Given the description of an element on the screen output the (x, y) to click on. 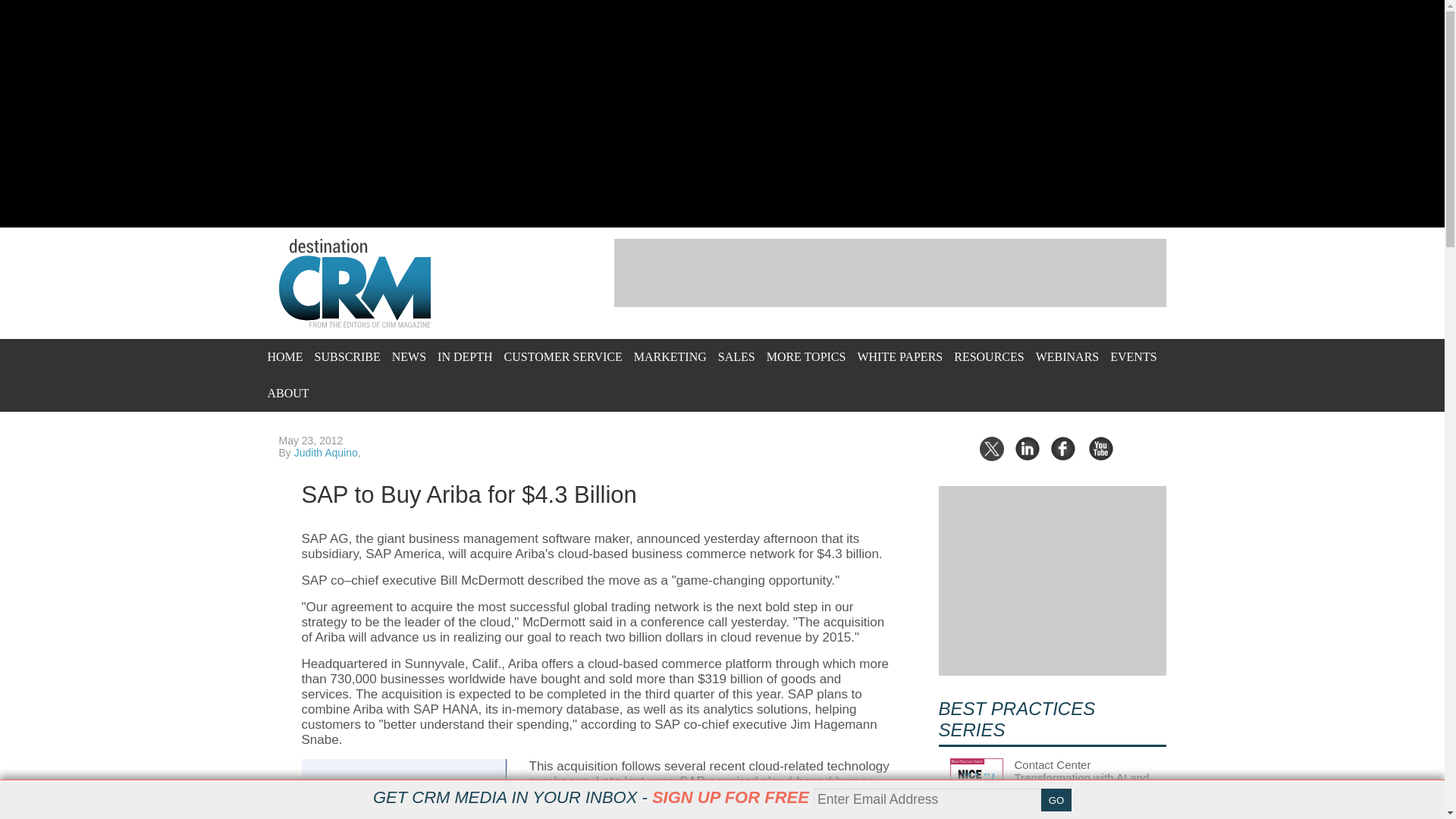
MARKETING (669, 357)
GET CRM MEDIA IN YOUR INBOX - SIGN UP FOR FREE (590, 797)
Sales (736, 357)
3rd party ad content (890, 273)
WHITE PAPERS (899, 357)
MORE TOPICS (806, 357)
HOME (284, 357)
CUSTOMER SERVICE (563, 357)
GO (1056, 799)
Marketing (669, 357)
SUBSCRIBE (347, 357)
SALES (736, 357)
RESOURCES (988, 357)
Customer Service (563, 357)
